Given the description of an element on the screen output the (x, y) to click on. 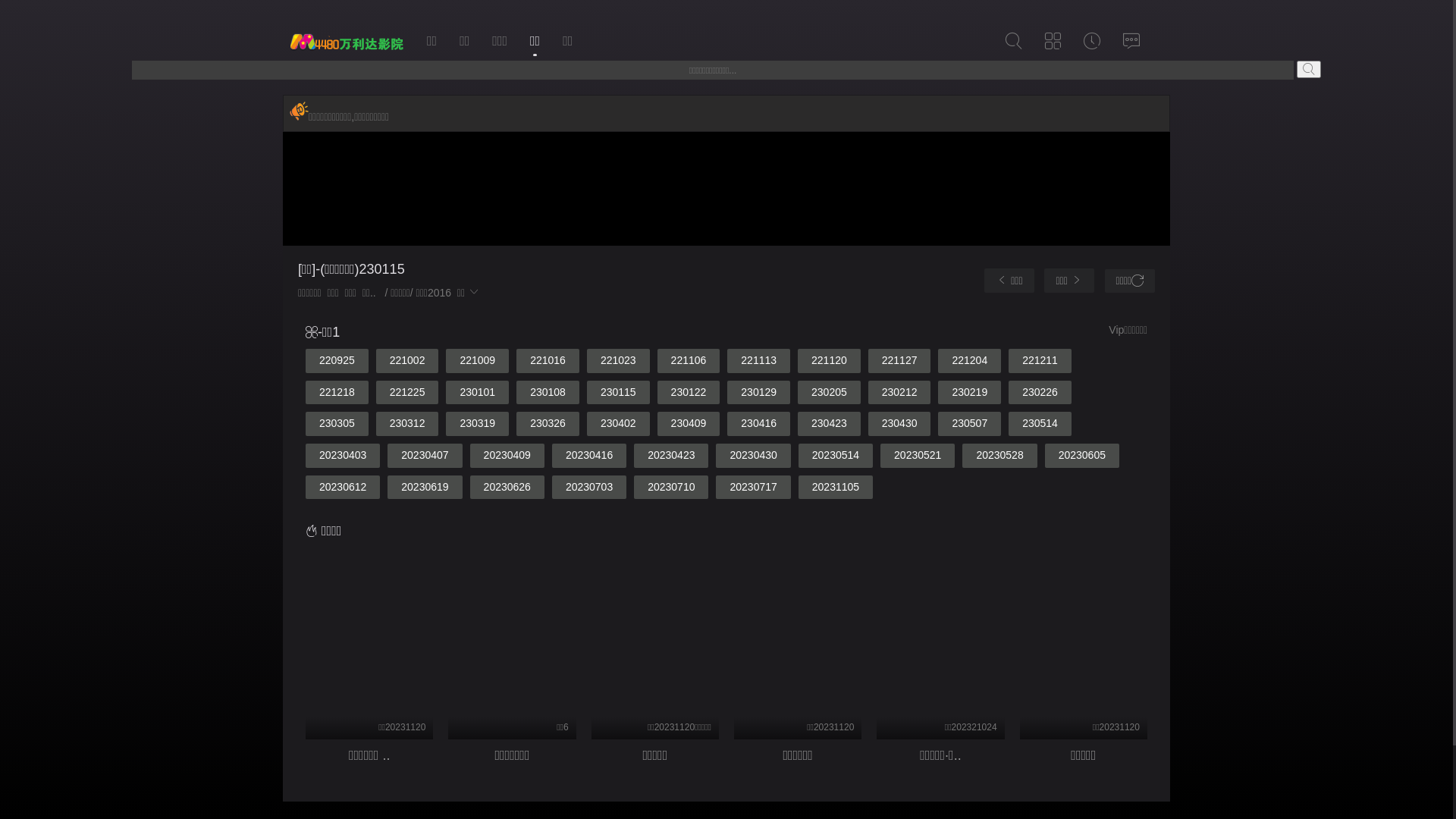
230101 Element type: text (476, 392)
20230710 Element type: text (670, 487)
221127 Element type: text (899, 360)
220925 Element type: text (336, 360)
20230514 Element type: text (835, 455)
20230717 Element type: text (752, 487)
221009 Element type: text (476, 360)
20230430 Element type: text (752, 455)
20230626 Element type: text (507, 487)
230122 Element type: text (688, 392)
230319 Element type: text (476, 423)
230212 Element type: text (899, 392)
230416 Element type: text (758, 423)
221002 Element type: text (407, 360)
221106 Element type: text (688, 360)
221211 Element type: text (1039, 360)
221016 Element type: text (547, 360)
230205 Element type: text (828, 392)
230402 Element type: text (617, 423)
230108 Element type: text (547, 392)
221204 Element type: text (969, 360)
230226 Element type: text (1039, 392)
230423 Element type: text (828, 423)
230129 Element type: text (758, 392)
20230605 Element type: text (1081, 455)
20230416 Element type: text (589, 455)
20230528 Element type: text (999, 455)
230326 Element type: text (547, 423)
20230407 Element type: text (424, 455)
230312 Element type: text (407, 423)
221218 Element type: text (336, 392)
20230619 Element type: text (424, 487)
230409 Element type: text (688, 423)
20230409 Element type: text (507, 455)
230219 Element type: text (969, 392)
221120 Element type: text (828, 360)
20231105 Element type: text (835, 487)
230507 Element type: text (969, 423)
221113 Element type: text (758, 360)
230430 Element type: text (899, 423)
20230612 Element type: text (342, 487)
20230423 Element type: text (670, 455)
230305 Element type: text (336, 423)
20230703 Element type: text (589, 487)
221023 Element type: text (617, 360)
20230403 Element type: text (342, 455)
230514 Element type: text (1039, 423)
221225 Element type: text (407, 392)
20230521 Element type: text (917, 455)
230115 Element type: text (617, 392)
